Given the description of an element on the screen output the (x, y) to click on. 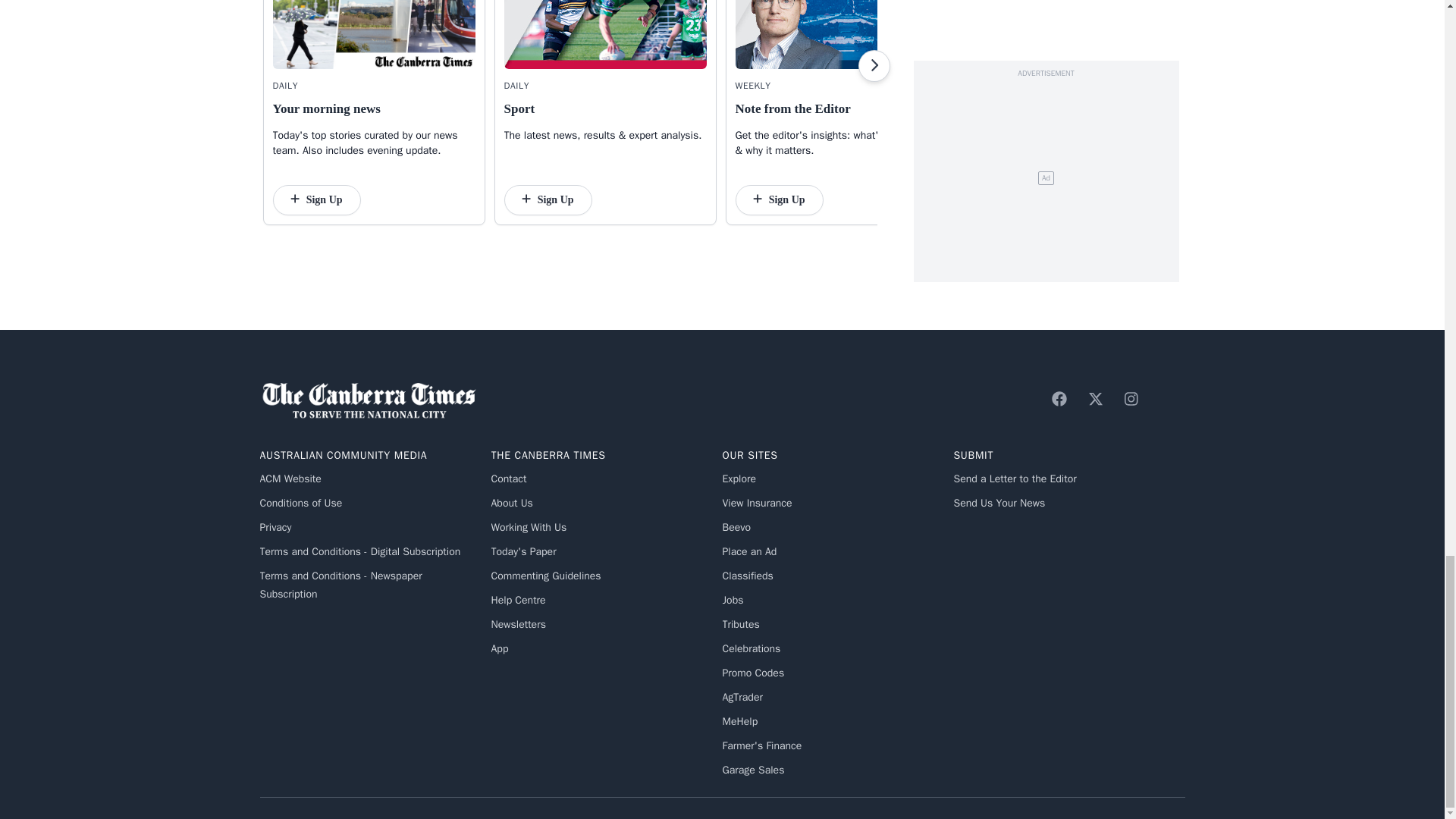
Sport Newsletter (604, 34)
Your morning news Newsletter (374, 34)
Note from the Editor Newsletter (836, 34)
